Given the description of an element on the screen output the (x, y) to click on. 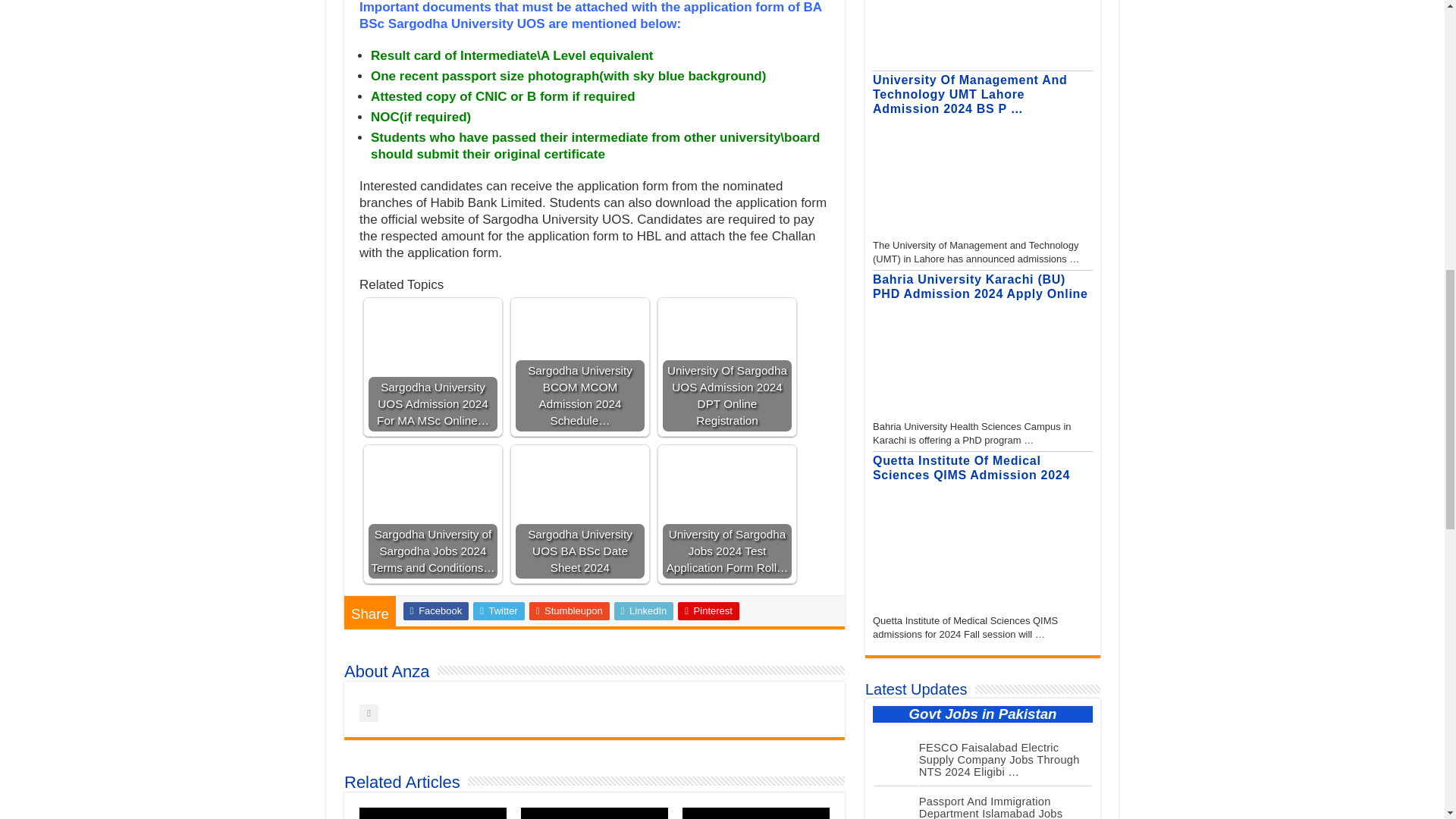
Facebook (435, 610)
Twitter (498, 610)
Sargodha University UOS BA BSc Date Sheet 2024 (580, 513)
Pinterest (708, 610)
Stumbleupon (569, 610)
LinkedIn (644, 610)
Sargodha University UOS BA BSc Date Sheet 2024 (579, 477)
